Given the description of an element on the screen output the (x, y) to click on. 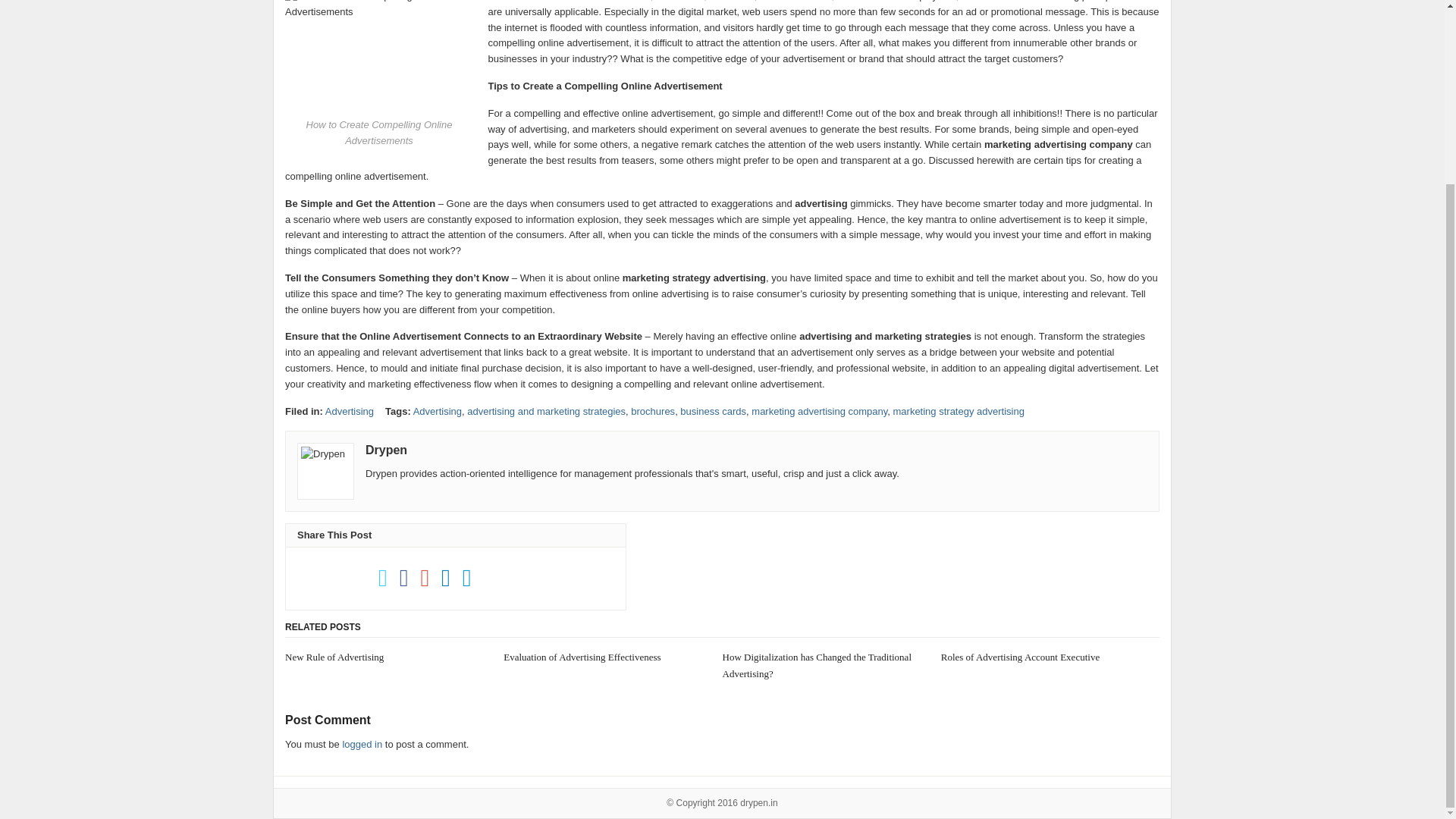
Advertising (437, 410)
How to Create Compelling Online Advertisements (379, 56)
Roles of Advertising Account Executive (1049, 657)
How Digitalization has Changed the Traditional Advertising? (822, 665)
New Rule of Advertising (385, 657)
marketing advertising company (818, 410)
Drypen (386, 449)
brochures (652, 410)
advertising and marketing strategies (546, 410)
Evaluation of Advertising Effectiveness (603, 657)
Advertising (349, 410)
marketing strategy advertising (959, 410)
business cards (712, 410)
